Given the description of an element on the screen output the (x, y) to click on. 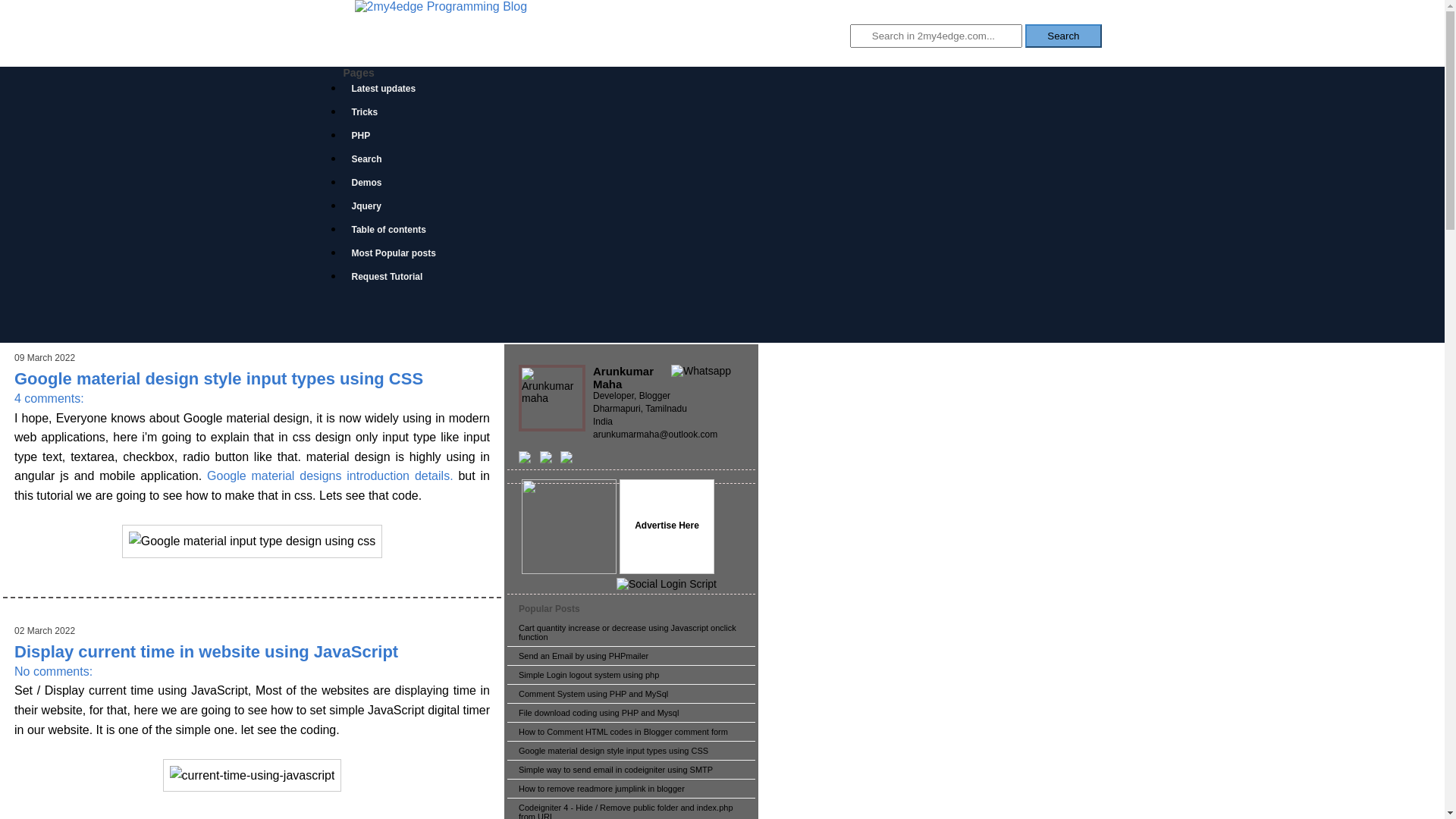
Request Tutorial Element type: text (393, 278)
Demos Element type: text (373, 184)
Table of contents Element type: text (395, 231)
Google material input type design using css Element type: hover (252, 541)
Display current time in website using JavaScript Element type: text (206, 651)
Simple Login logout system using php Element type: text (588, 674)
Simple way to send email in codeigniter using SMTP Element type: text (615, 769)
How to Comment HTML codes in Blogger comment form Element type: text (623, 731)
Google material design style input types using CSS Element type: text (613, 750)
Arunkumar Maha Element type: hover (551, 397)
How to remove readmore jumplink in blogger Element type: text (601, 788)
Google material design style input types using CSS Element type: text (218, 378)
Google material designs introduction details. Element type: text (330, 475)
As a programmer Element type: hover (568, 527)
Tricks Element type: text (371, 113)
Search Element type: text (373, 160)
arunkumarmaha@outlook.com Element type: text (655, 434)
Arunkumar Maha Element type: text (623, 377)
File download coding using PHP and Mysql Element type: text (598, 712)
Jquery Element type: text (372, 207)
Advertisement Element type: hover (721, 305)
Comment System using PHP and MySql Element type: text (593, 693)
Most Popular posts Element type: text (400, 254)
Advertise Here Element type: text (666, 526)
PHP Element type: text (367, 137)
Search Element type: text (1063, 35)
current-time-using-javascript Element type: hover (252, 775)
4 comments: Element type: text (49, 398)
Latest updates Element type: text (390, 90)
No comments: Element type: text (53, 671)
Send an Email by using PHPmailer Element type: text (583, 655)
